Given the description of an element on the screen output the (x, y) to click on. 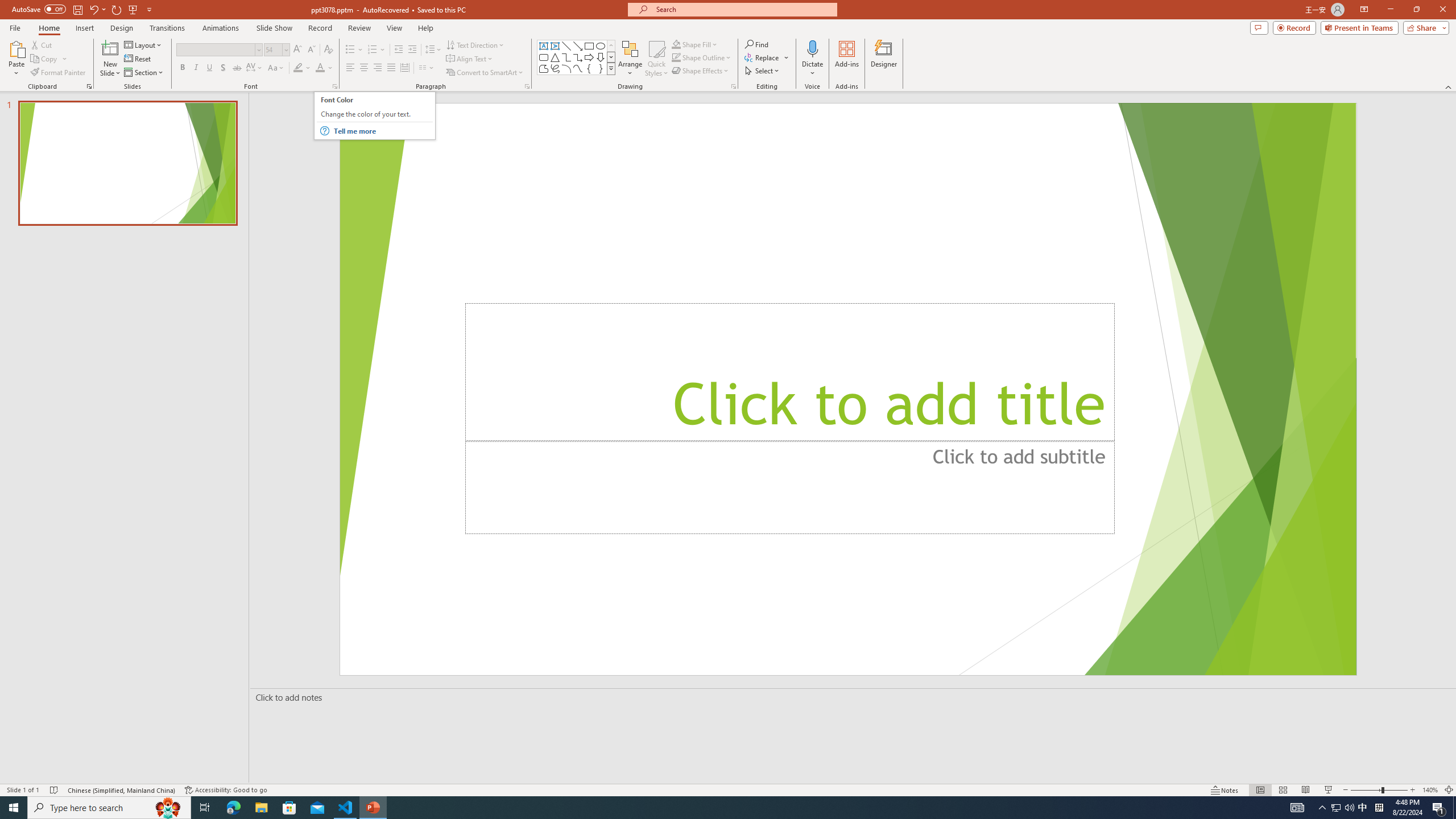
Share (1423, 27)
Undo (92, 9)
Zoom to Fit  (1449, 790)
Home (48, 28)
Layout (143, 44)
Decrease Indent (398, 49)
Open (285, 49)
Paste (16, 58)
Numbering (376, 49)
Connector: Elbow (566, 57)
Underline (209, 67)
Isosceles Triangle (554, 57)
Align Right (377, 67)
Distributed (404, 67)
Shape Outline (701, 56)
